Given the description of an element on the screen output the (x, y) to click on. 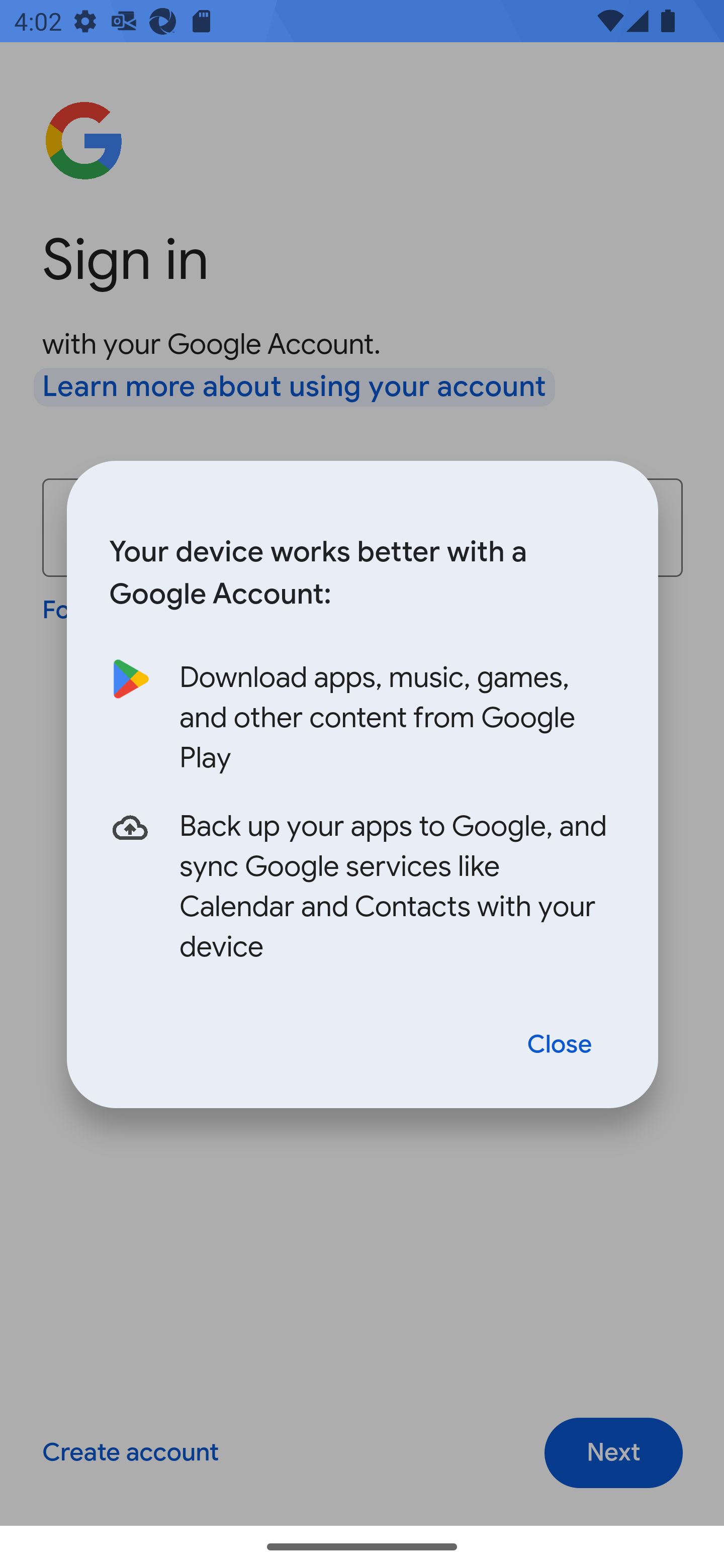
Close (560, 1044)
